Given the description of an element on the screen output the (x, y) to click on. 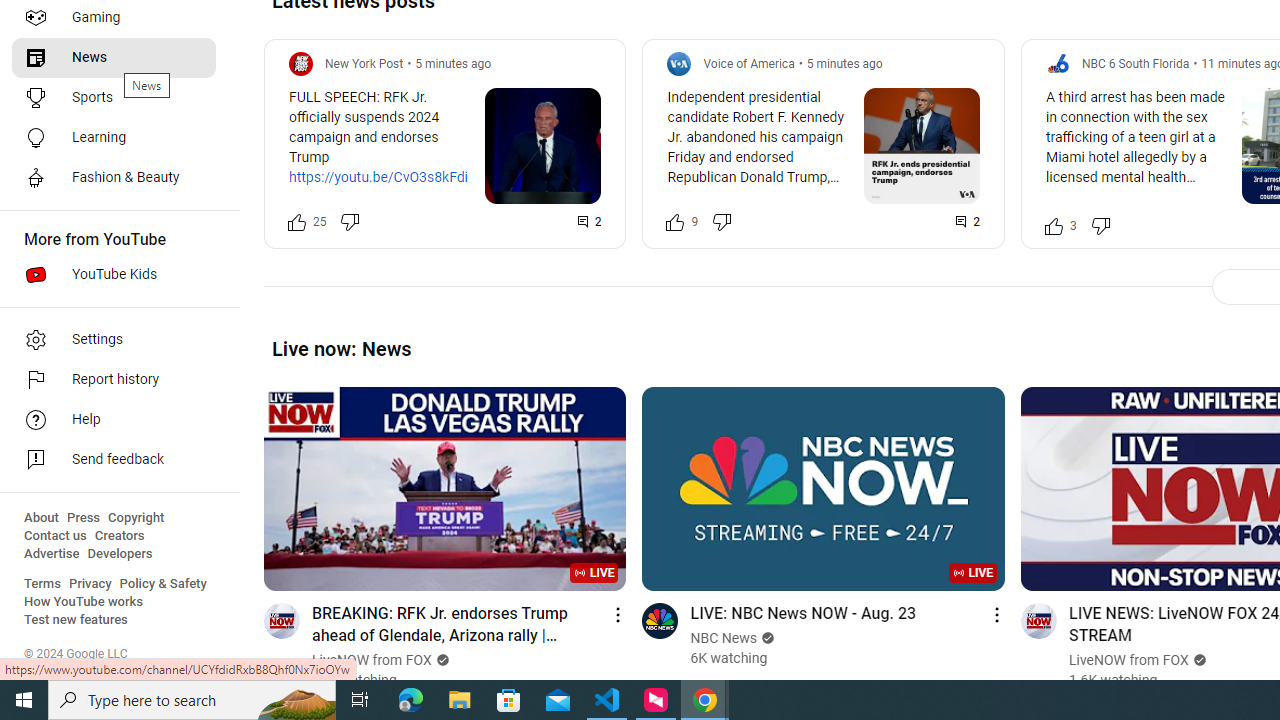
Developers (120, 554)
Send feedback (113, 459)
Fashion & Beauty (113, 177)
Contact us (55, 536)
Go to channel (1038, 620)
Dislike this post (1100, 224)
NBC 6 South Florida (1135, 63)
LIVE: NBC News NOW - Aug. 23 by NBC News 132,679 views (802, 612)
How YouTube works (83, 602)
Sports (113, 97)
Report history (113, 380)
